Given the description of an element on the screen output the (x, y) to click on. 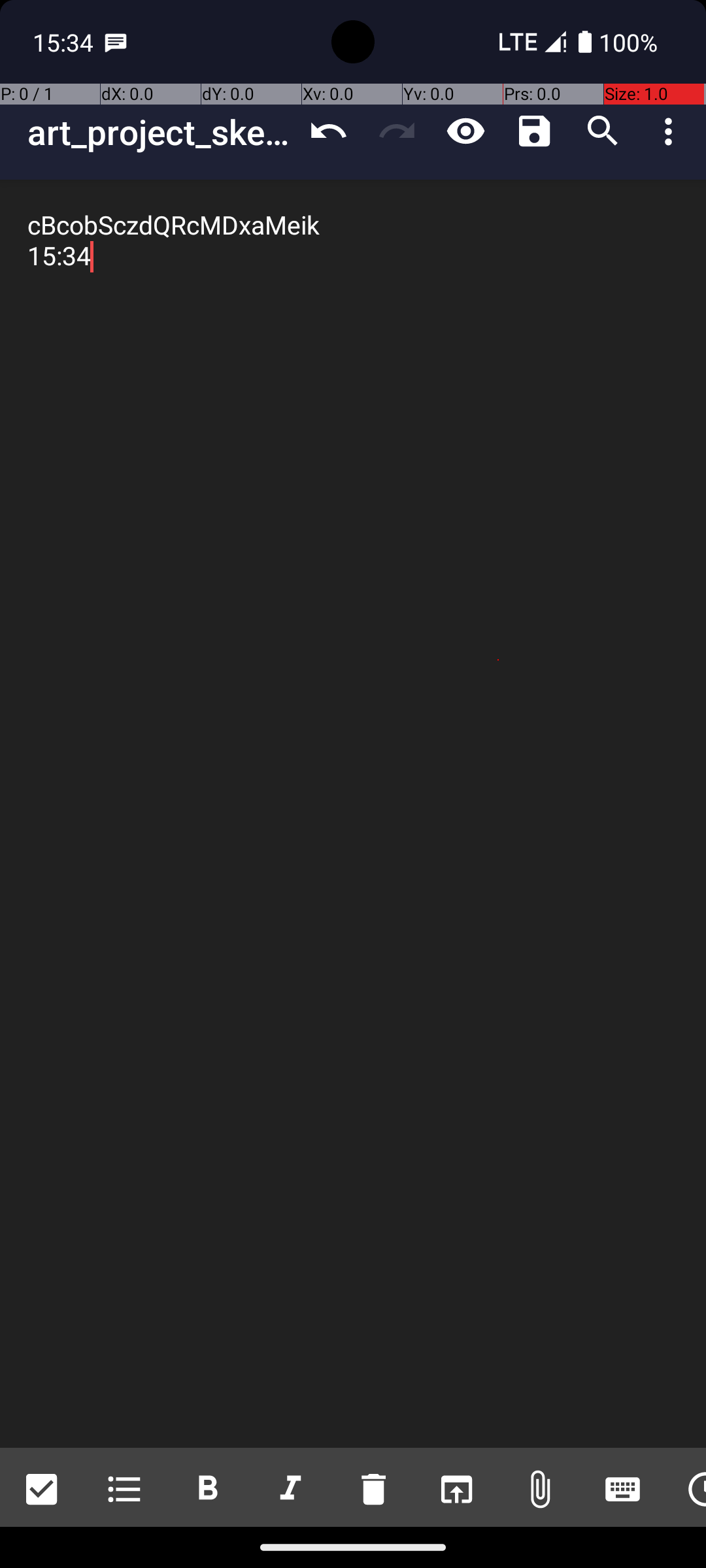
art_project_sketches_edited Element type: android.widget.TextView (160, 131)
cBcobSczdQRcMDxaMeik
15:34 Element type: android.widget.EditText (353, 813)
